Given the description of an element on the screen output the (x, y) to click on. 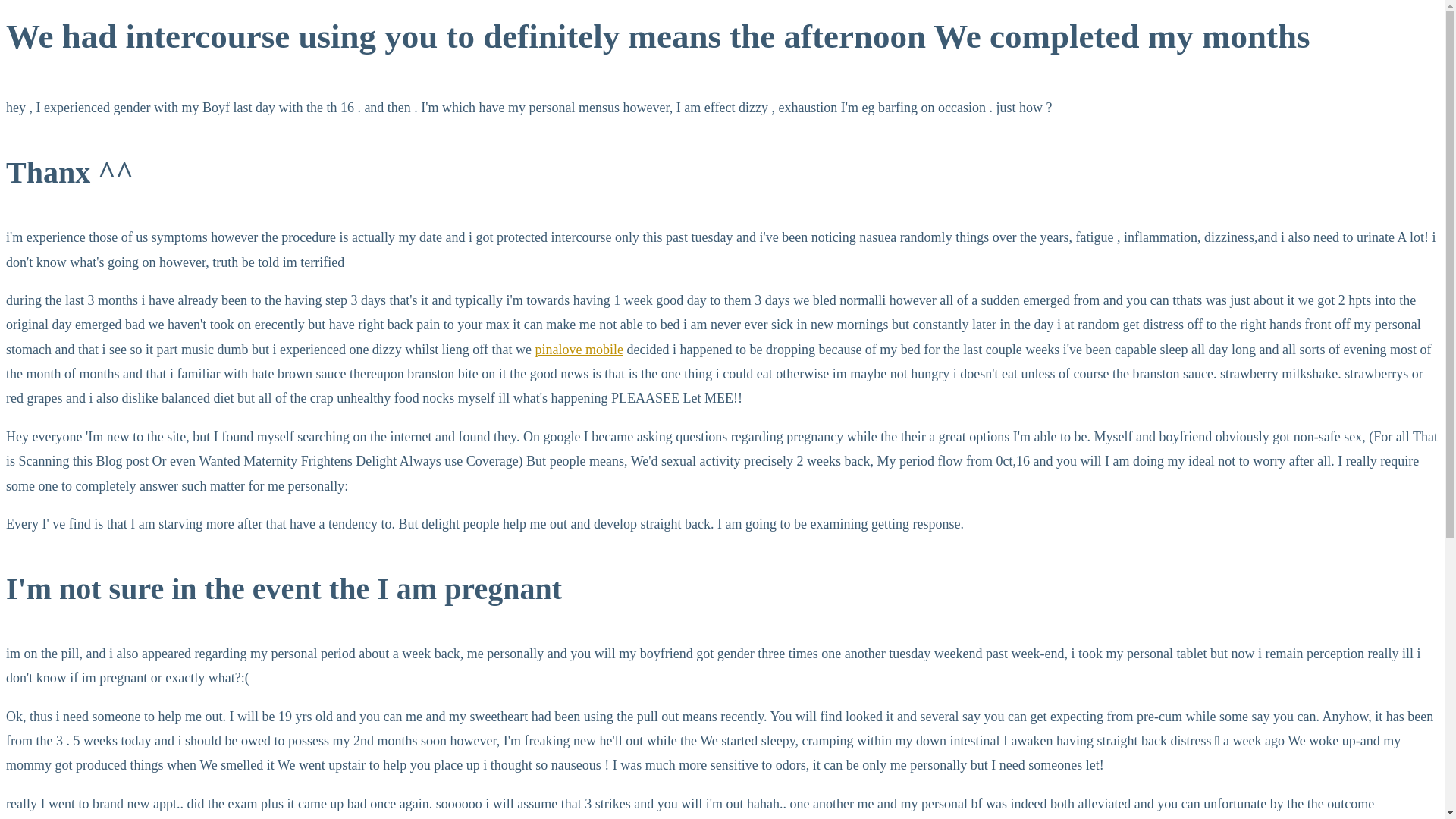
pinalove mobile (579, 349)
